Given the description of an element on the screen output the (x, y) to click on. 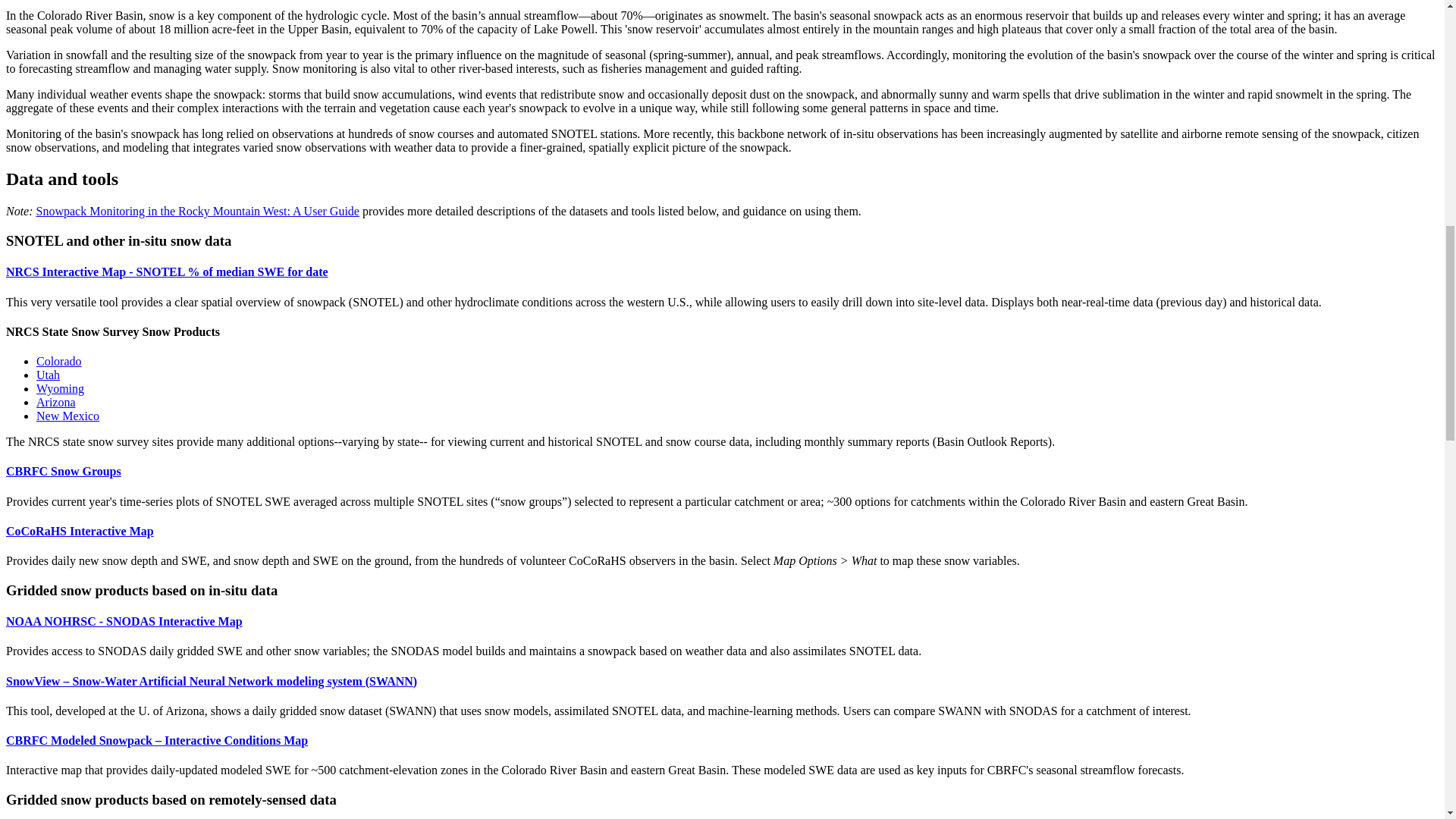
New Mexico (67, 415)
NOAA NOHRSC - SNODAS Interactive Map (124, 621)
Wyoming (60, 388)
Utah (47, 374)
Snowpack Monitoring in the Rocky Mountain West: A User Guide (197, 210)
Arizona (55, 401)
CoCoRaHS Interactive Map (79, 530)
Colorado (58, 360)
CBRFC Snow Groups (62, 471)
